Given the description of an element on the screen output the (x, y) to click on. 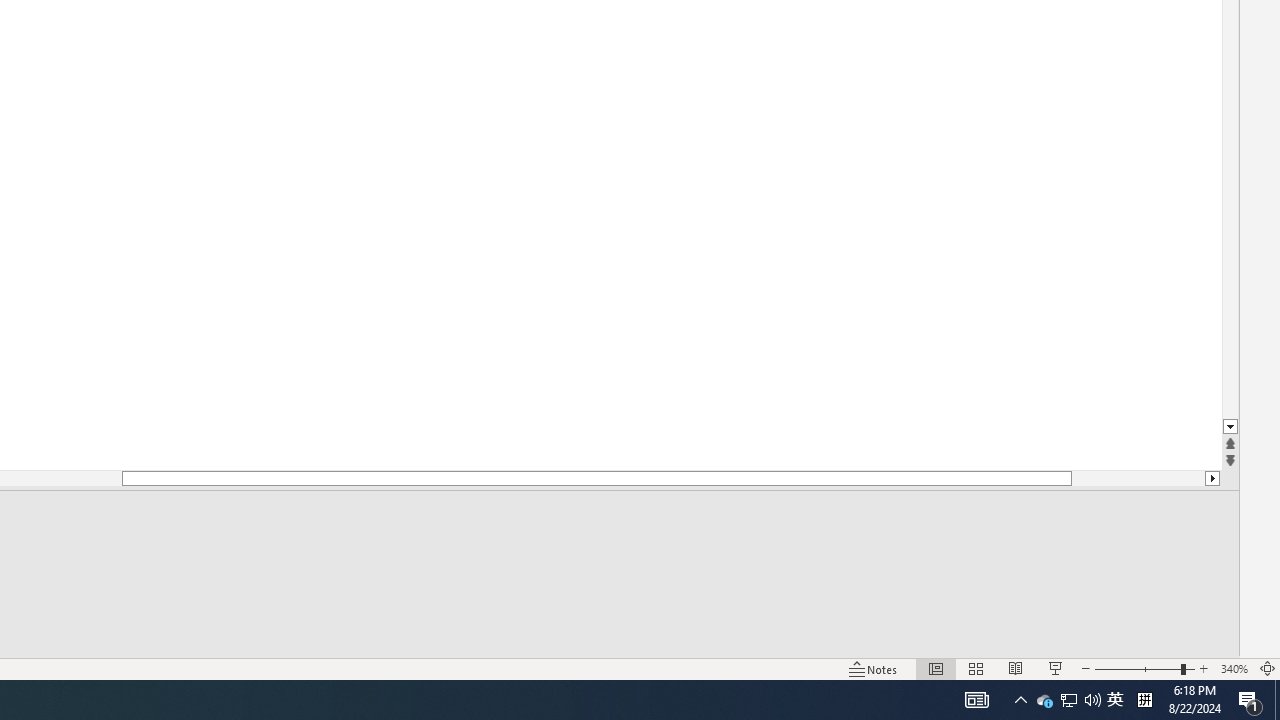
Zoom 340% (1234, 668)
